Given the description of an element on the screen output the (x, y) to click on. 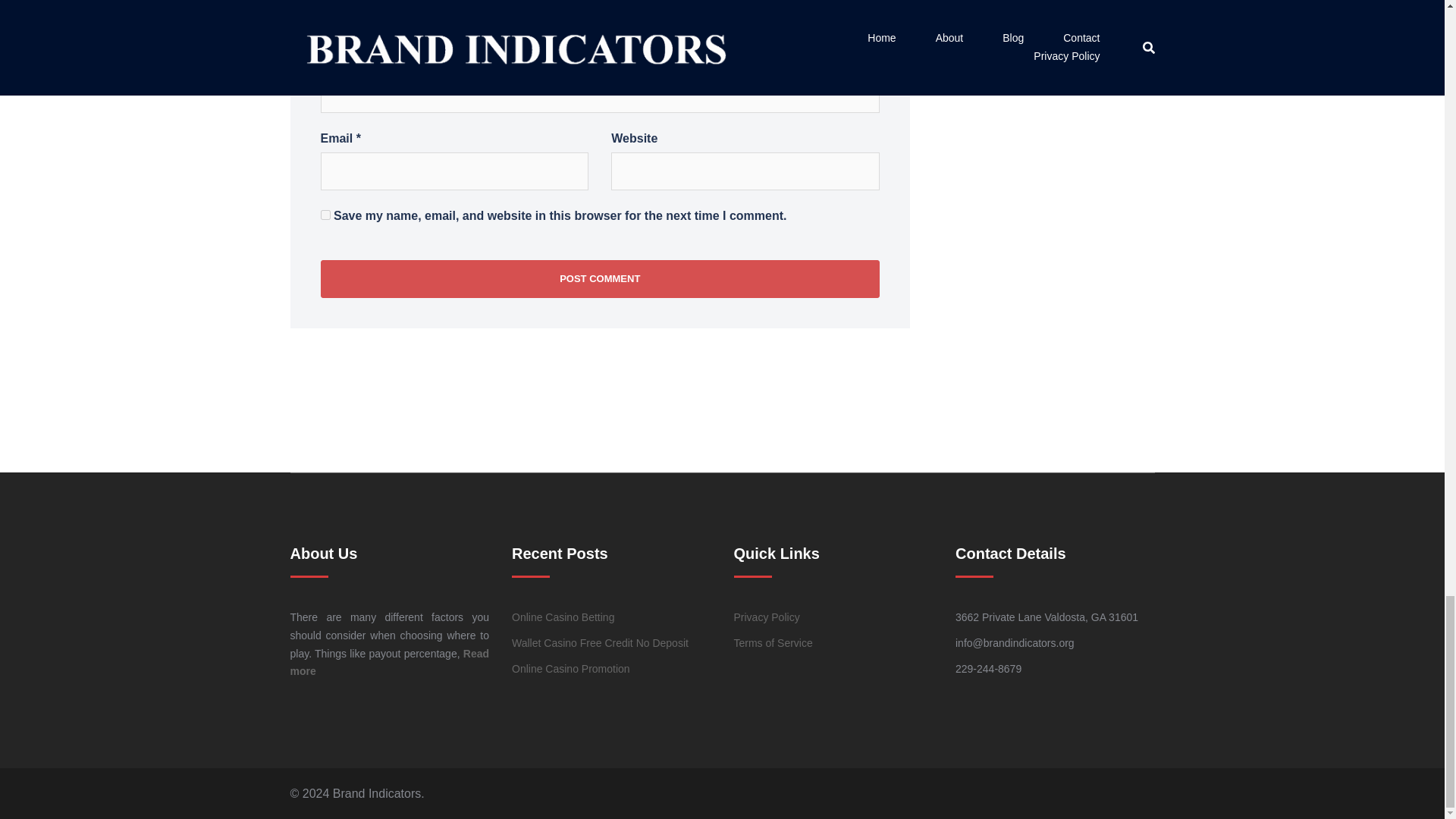
Online Casino Betting (563, 616)
Read more (389, 662)
yes (325, 214)
Privacy Policy (766, 616)
Post Comment (599, 279)
Wallet Casino Free Credit No Deposit (600, 643)
Online Casino Promotion (571, 668)
Post Comment (599, 279)
